Given the description of an element on the screen output the (x, y) to click on. 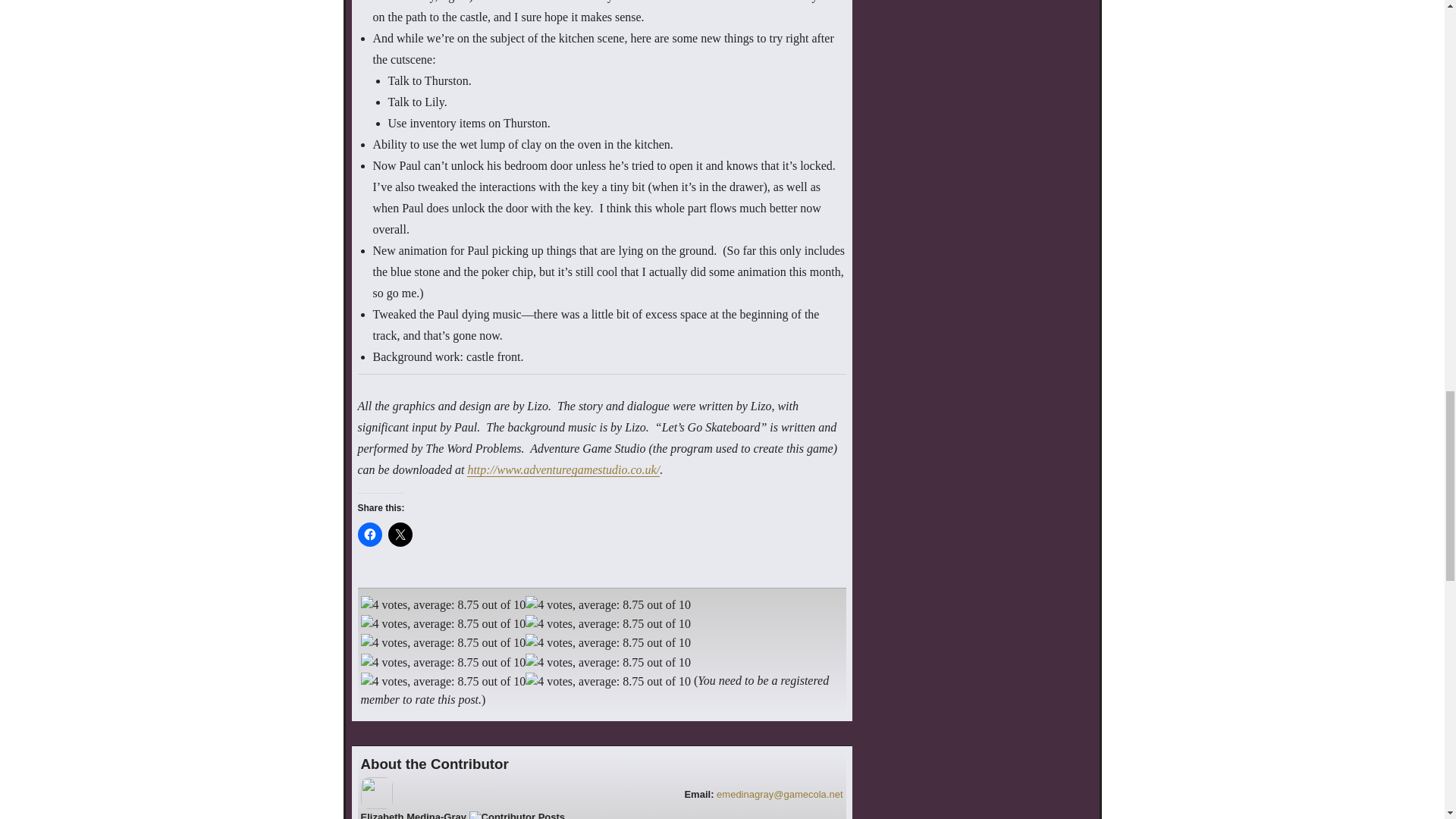
Click to share on Facebook (369, 534)
4 votes, average: 8.75 out of 10 (463, 815)
4 votes, average: 8.75 out of 10 (443, 624)
Click to share on X (443, 605)
4 votes, average: 8.75 out of 10 (400, 534)
4 votes, average: 8.75 out of 10 (607, 624)
